Given the description of an element on the screen output the (x, y) to click on. 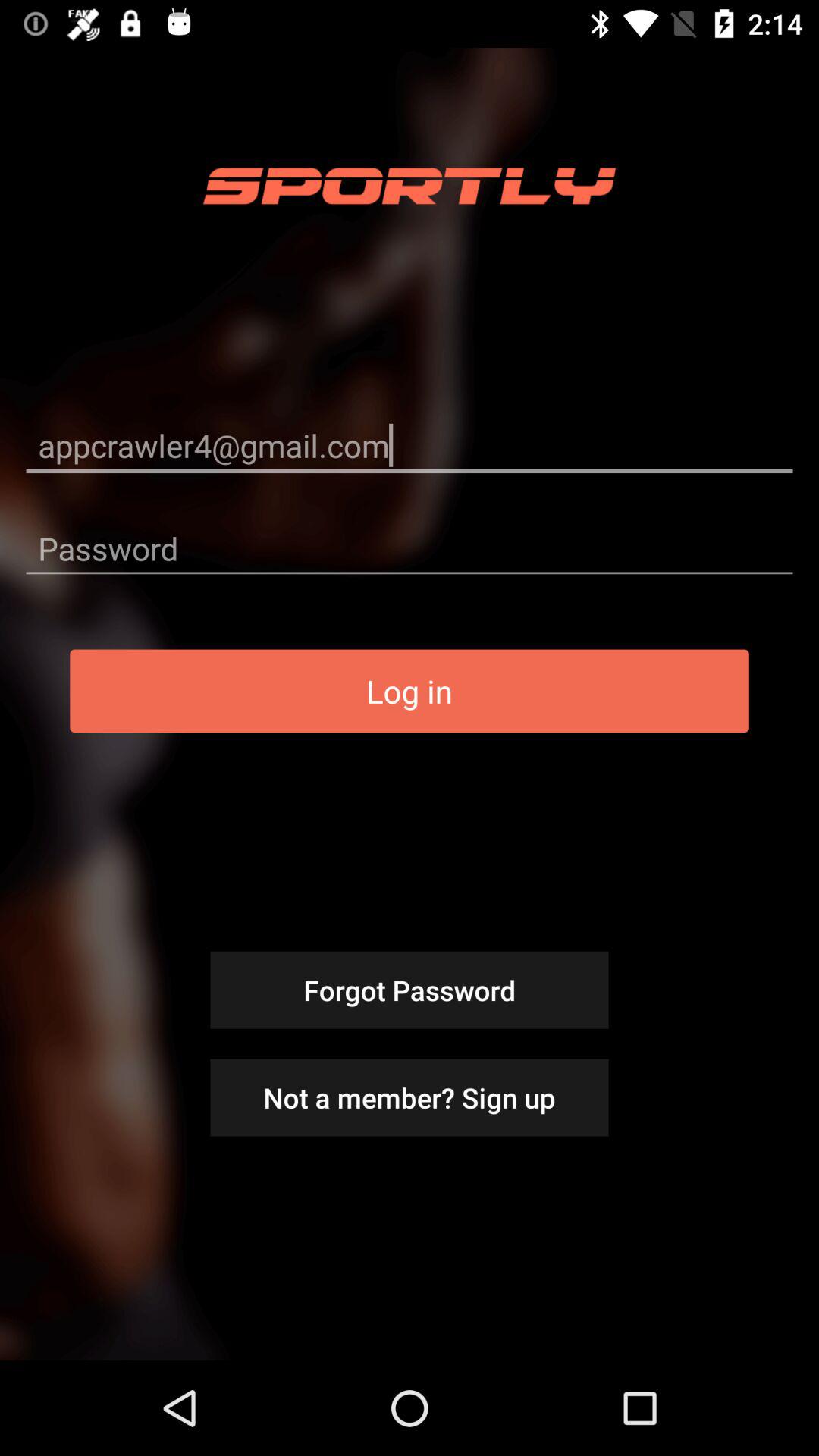
tap log in icon (409, 690)
